Given the description of an element on the screen output the (x, y) to click on. 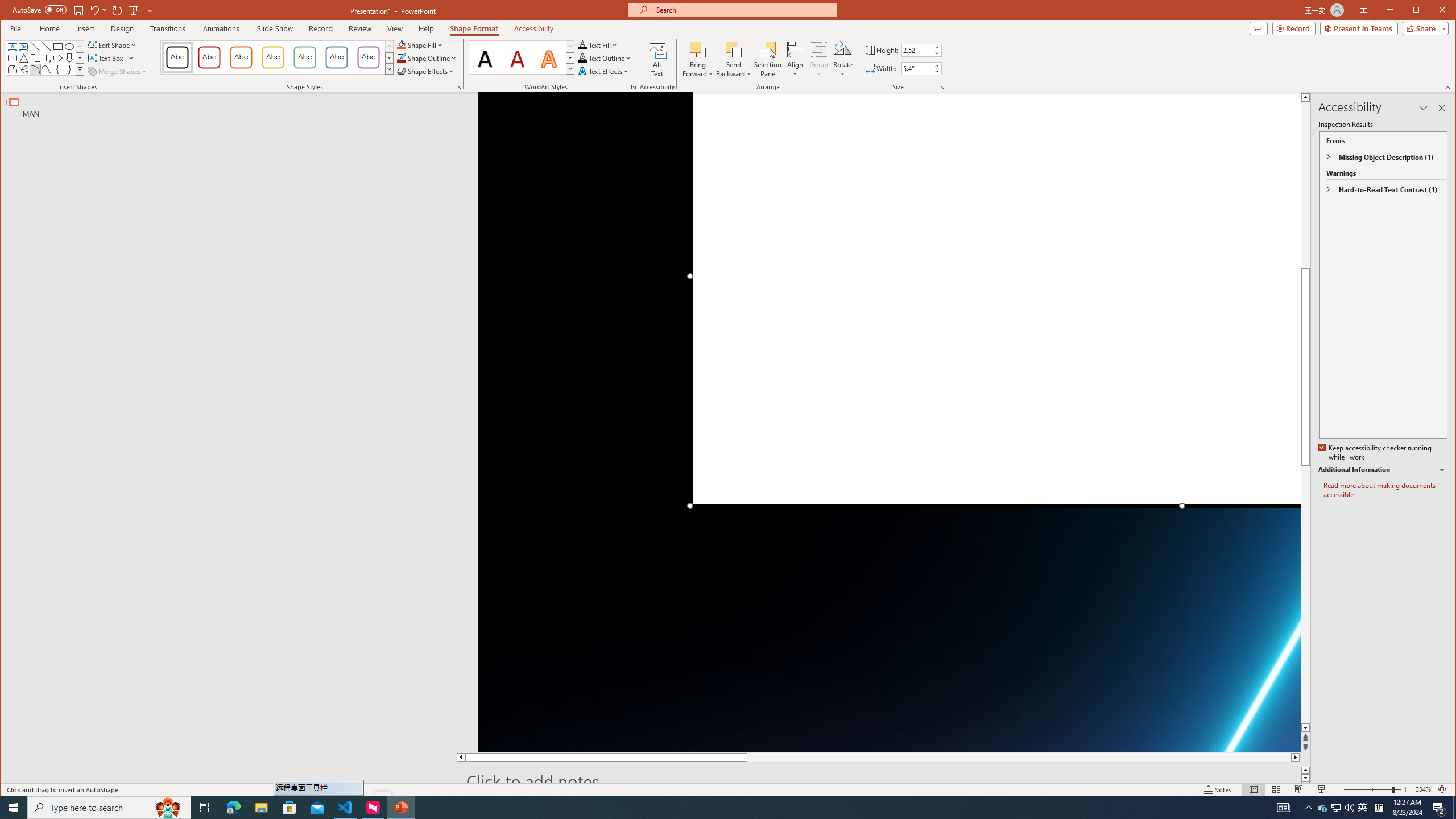
More Options (733, 69)
Send Backward (733, 59)
Microsoft Edge (233, 807)
Zoom 334% (1422, 789)
Curve (46, 69)
Start (13, 807)
Accessibility (534, 28)
Design (122, 28)
Read more about making documents accessible (1385, 489)
Colored Outline - Blue-Gray, Accent 5 (336, 57)
Slide Sorter (1276, 789)
Help (426, 28)
Shape Height (916, 50)
Isosceles Triangle (23, 57)
